Given the description of an element on the screen output the (x, y) to click on. 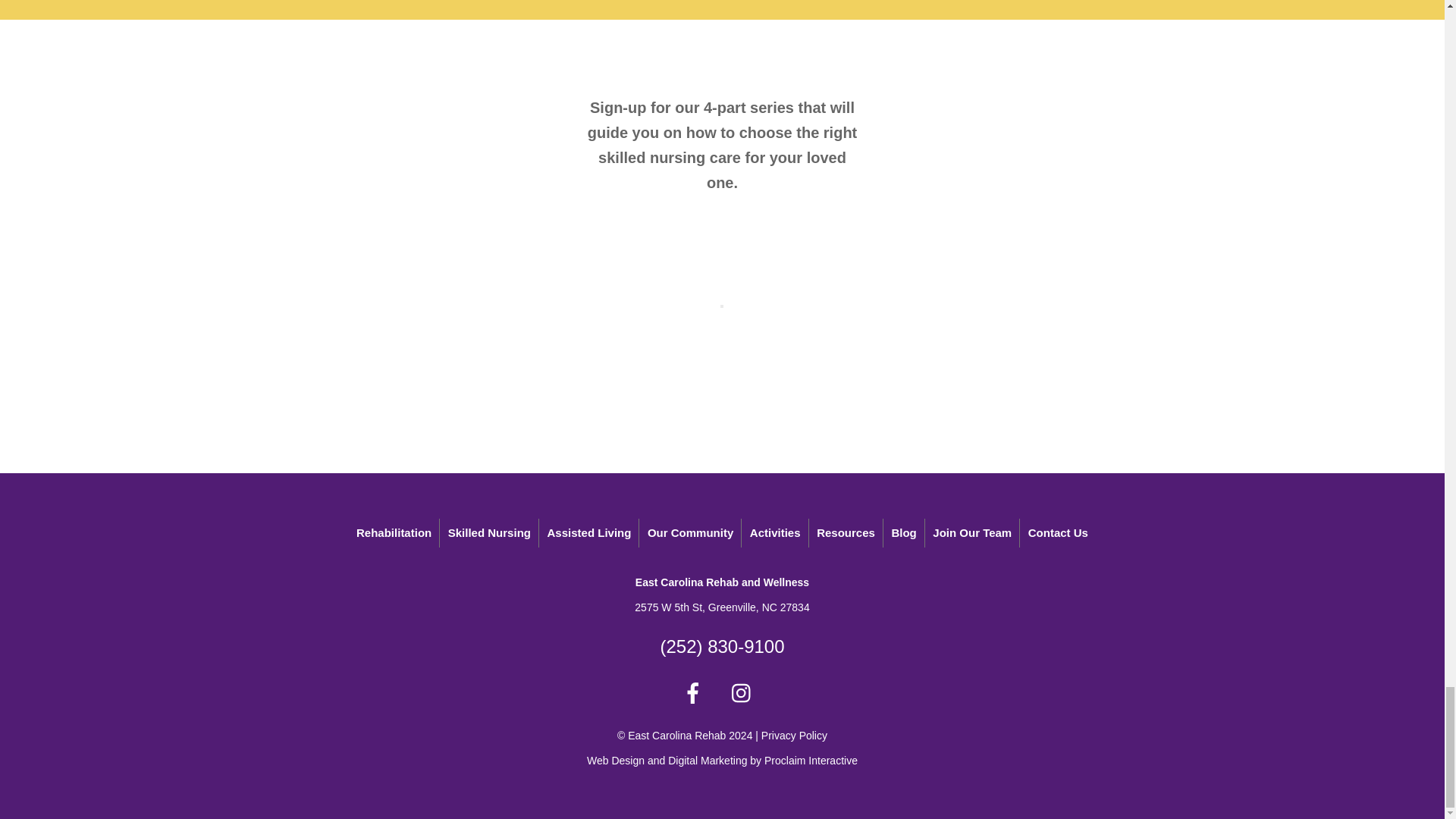
Activities (775, 532)
Rehabilitation (394, 532)
Blog (903, 532)
Our Community (690, 532)
Assisted Living (590, 532)
Skilled Nursing (489, 532)
Contact Us (1058, 532)
Join Our Team (972, 532)
Resources (846, 532)
